Given the description of an element on the screen output the (x, y) to click on. 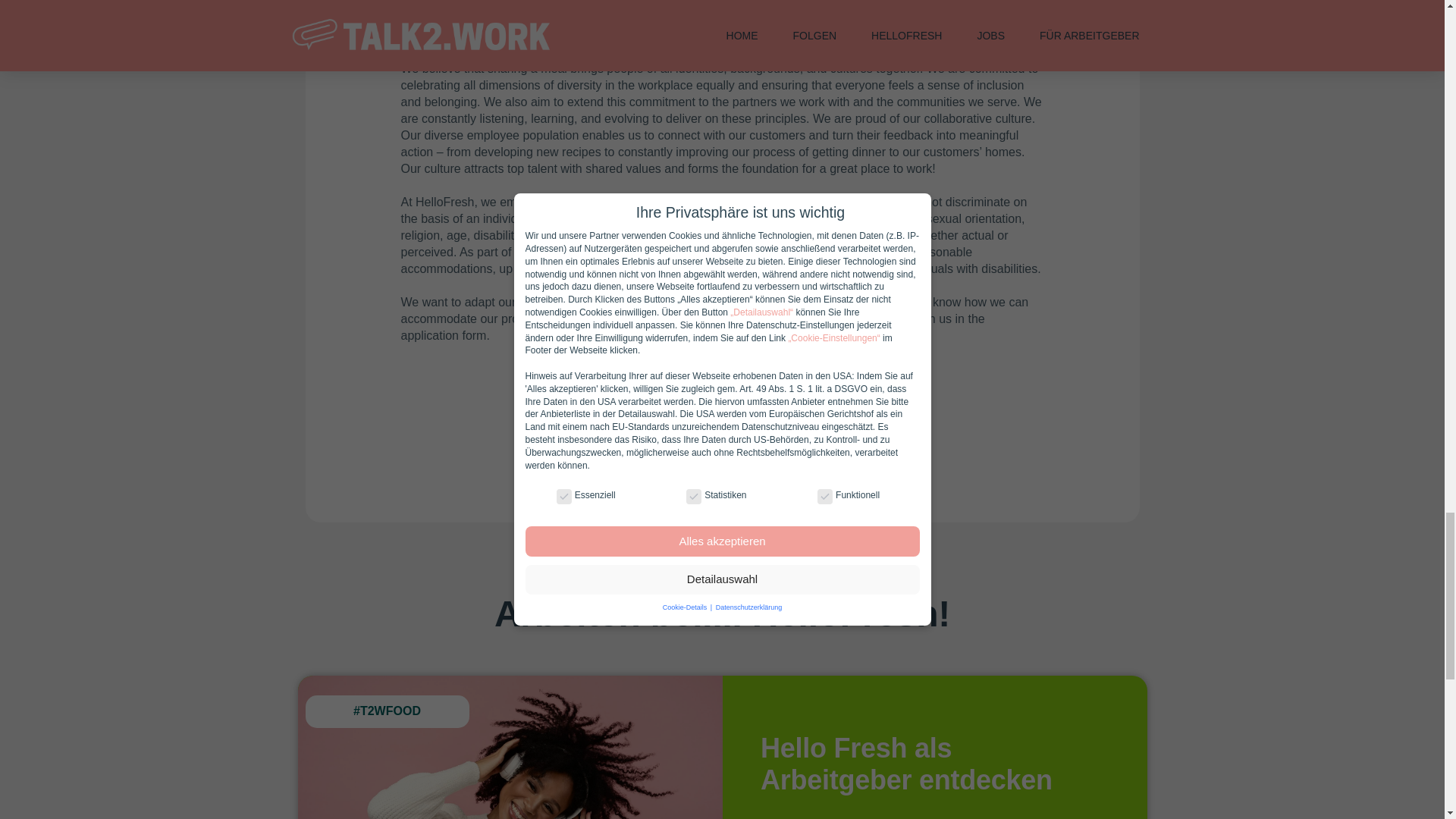
Hello Fresh als Arbeitgeber entdecken (906, 763)
Arbeitgeberprofil (827, 815)
